Given the description of an element on the screen output the (x, y) to click on. 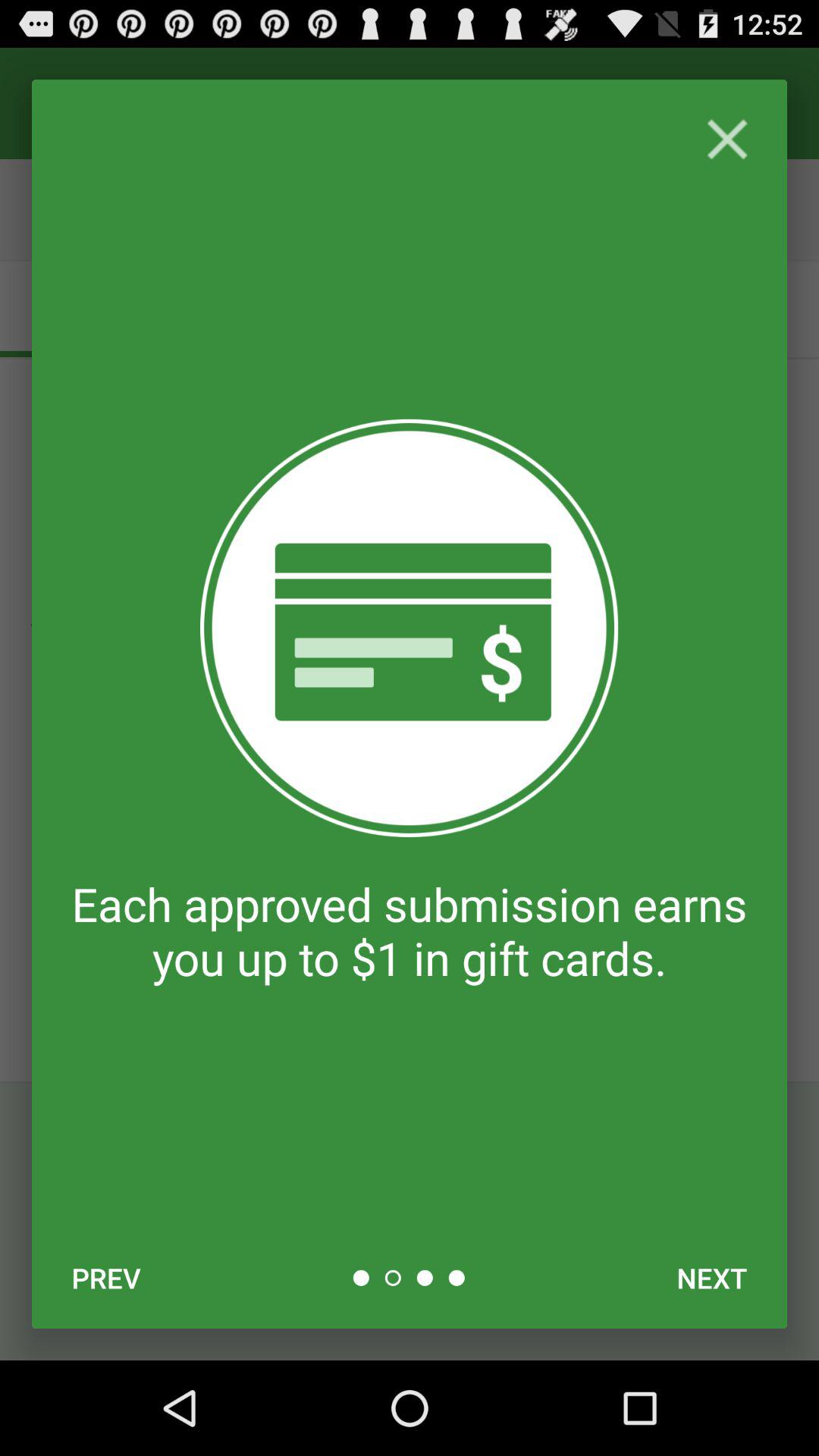
open the item below the each approved submission icon (711, 1277)
